Given the description of an element on the screen output the (x, y) to click on. 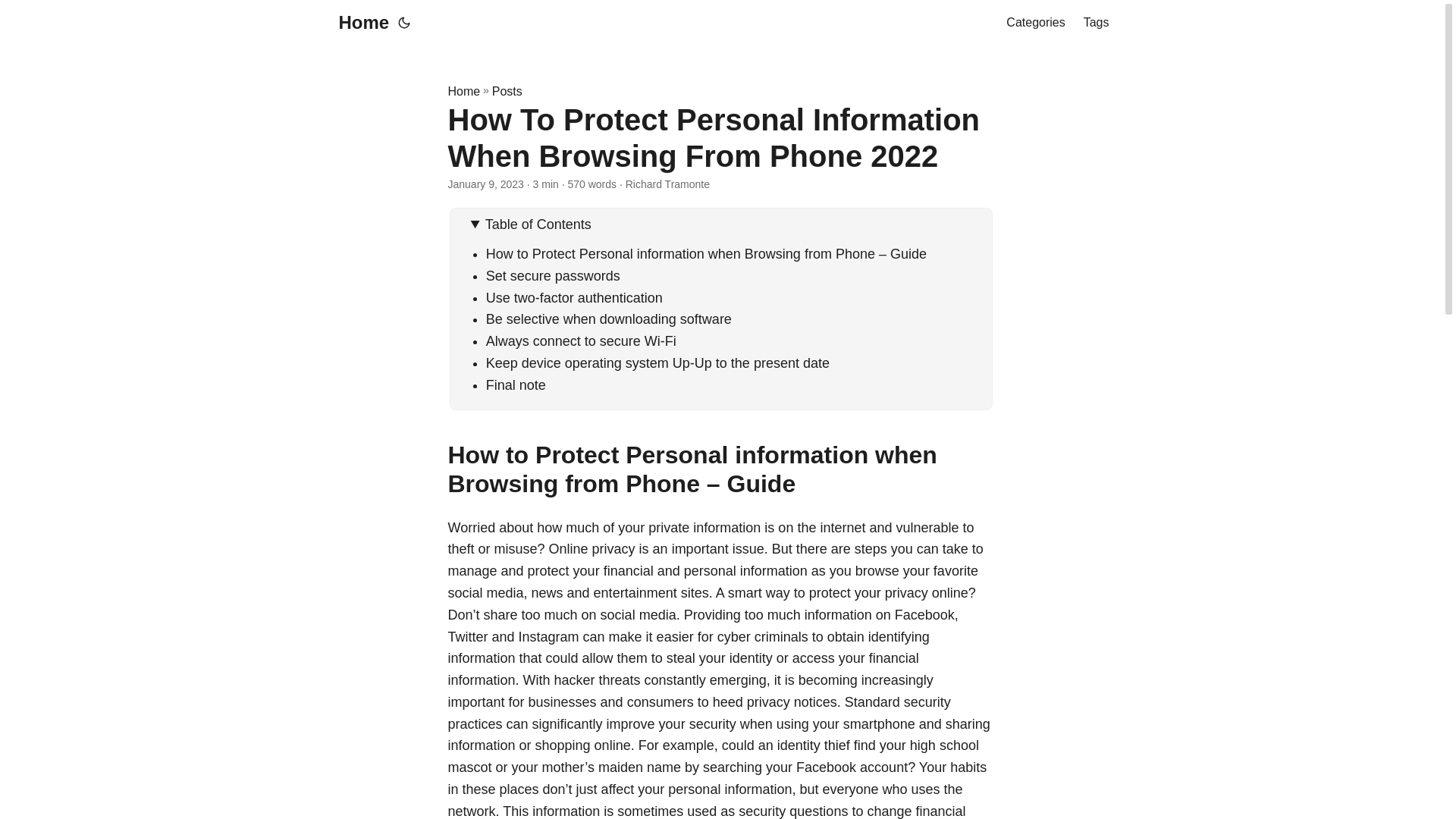
Home (359, 22)
Posts (507, 91)
Use two-factor authentication (574, 297)
Keep device operating system Up-Up to the present date (657, 363)
Set secure passwords (553, 275)
Always connect to secure Wi-Fi (581, 340)
Home (463, 91)
Categories (1035, 22)
Be selective when downloading software (609, 319)
Categories (1035, 22)
